Given the description of an element on the screen output the (x, y) to click on. 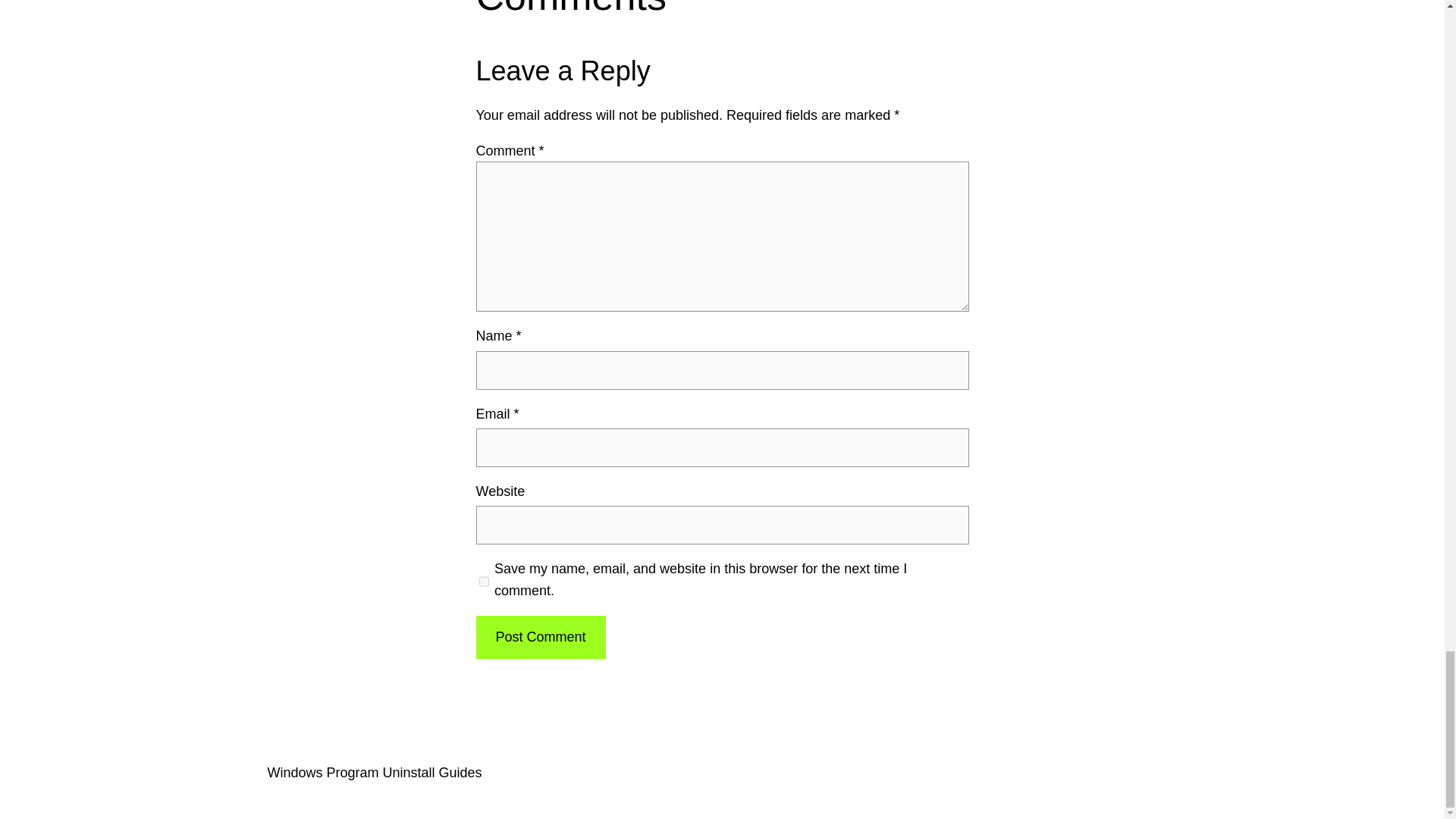
Post Comment (540, 637)
Windows Program Uninstall Guides (373, 772)
Post Comment (540, 637)
